Given the description of an element on the screen output the (x, y) to click on. 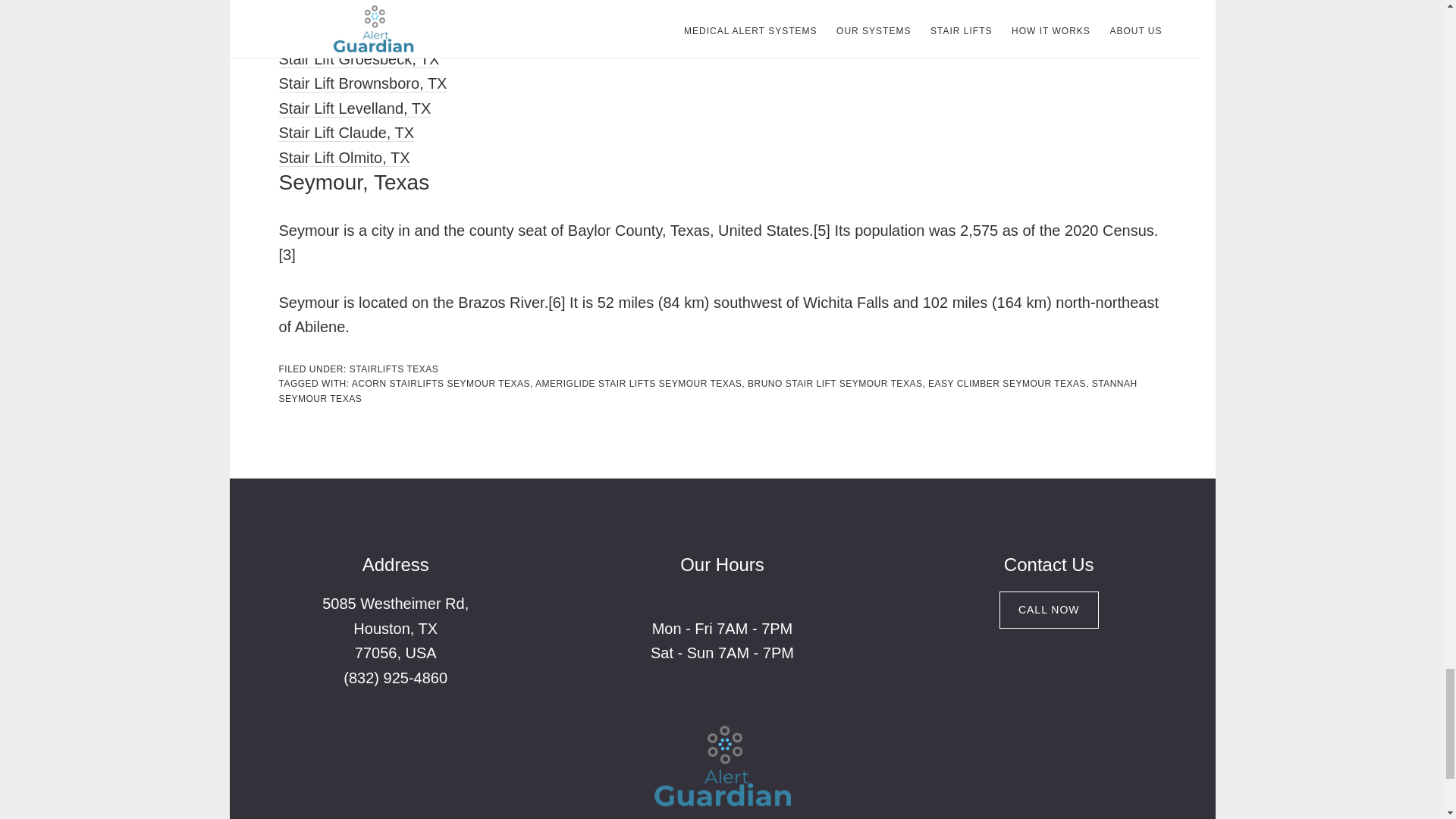
Stair Lift Olmito, TX (344, 158)
Stair Lift Claude, TX (346, 132)
Stair Lift Diboll, TX (341, 9)
Stair Lift Groesbeck, TX (359, 58)
Stair Lift Levelland, TX (354, 108)
Stair Lift Pattonville, TX (357, 34)
Stair Lift Brownsboro, TX (362, 83)
